Given the description of an element on the screen output the (x, y) to click on. 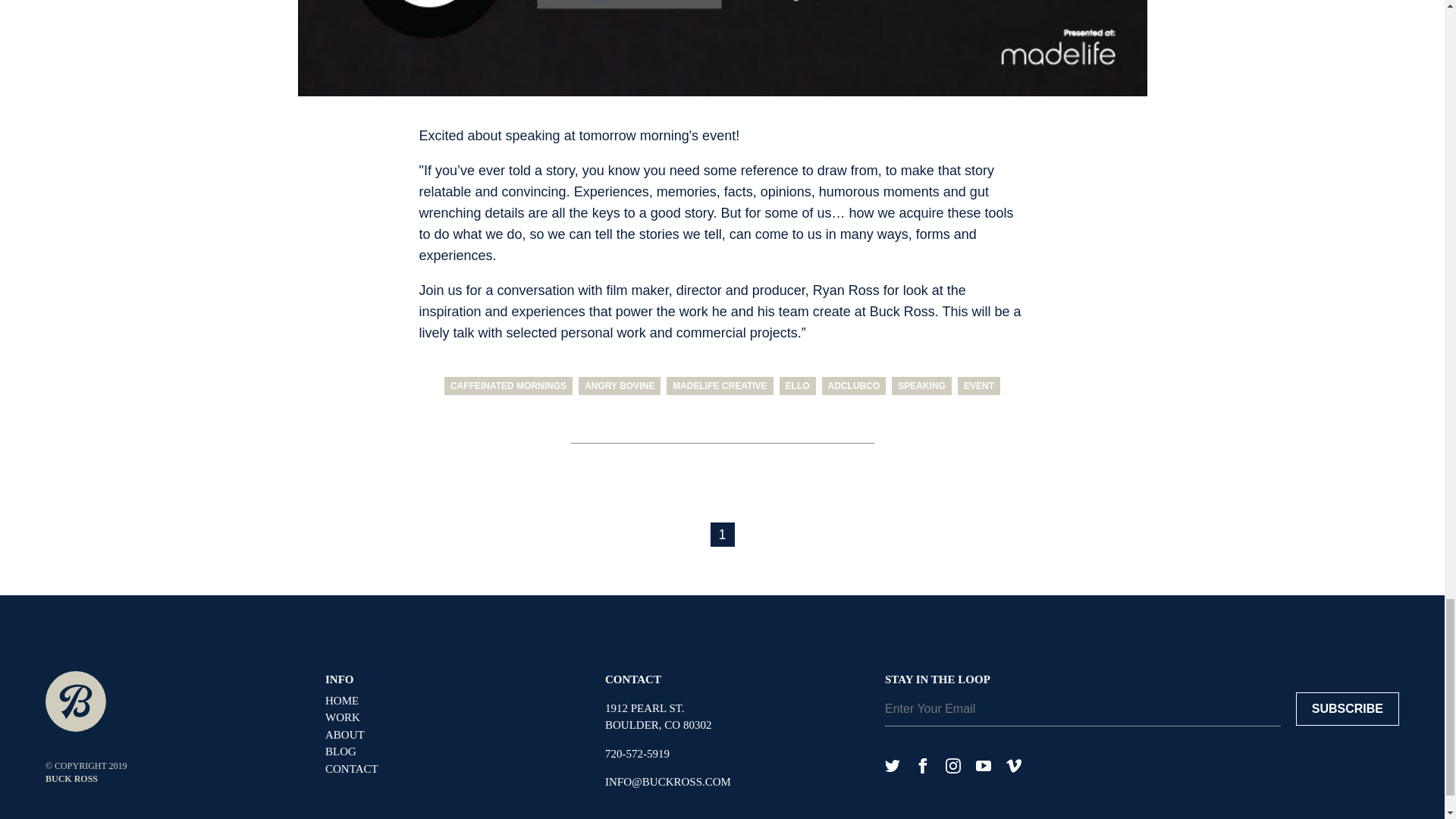
1 (721, 534)
HOME (453, 701)
CAFFEINATED MORNINGS (508, 385)
EVENT (979, 385)
SPEAKING (921, 385)
ANGRY BOVINE (619, 385)
BLOG (453, 751)
ABOUT (453, 734)
CONTACT (453, 769)
WORK (453, 717)
